Given the description of an element on the screen output the (x, y) to click on. 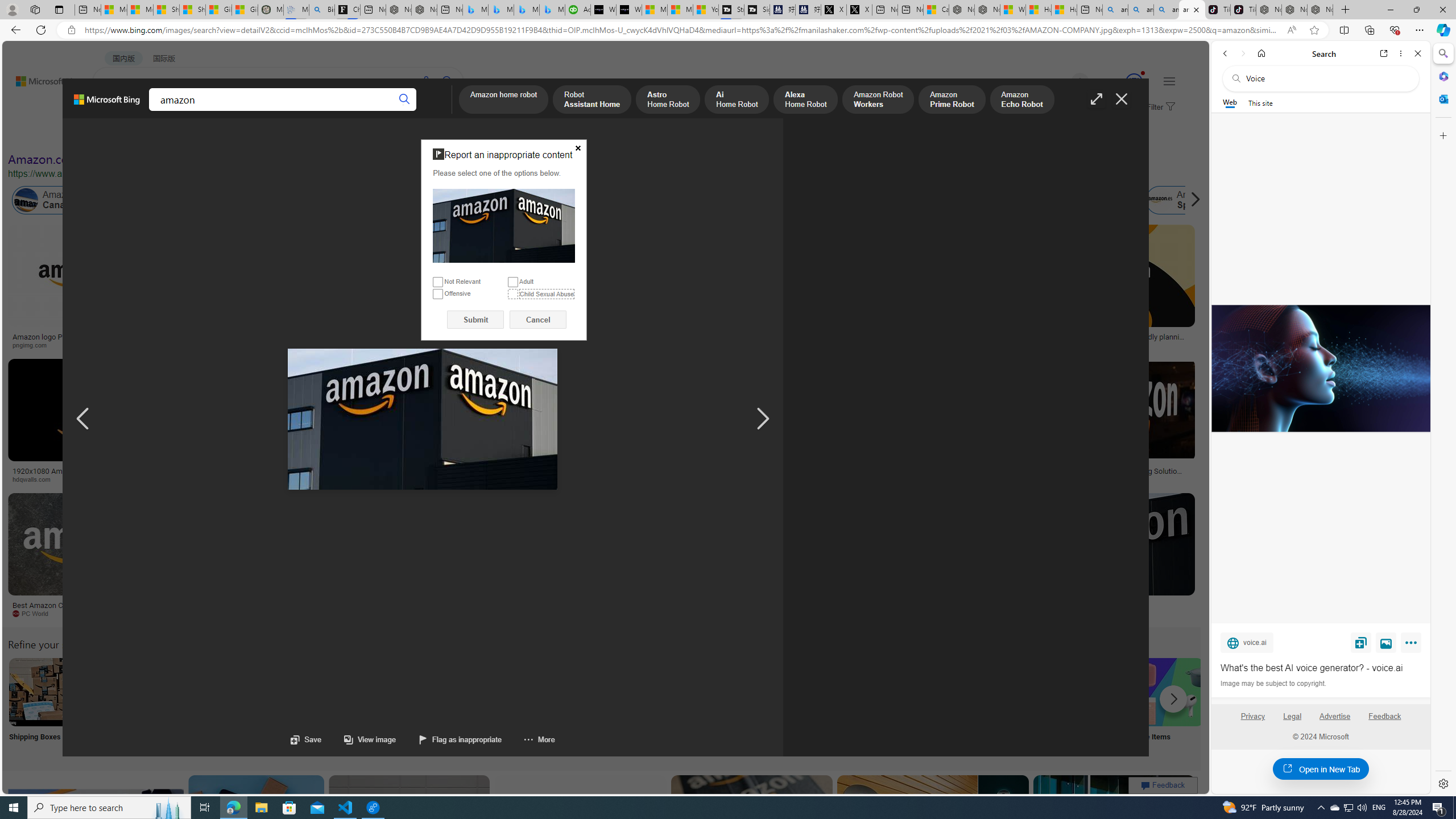
pngimg.com (34, 344)
Color (173, 135)
Listen: What's next for Amazon? (363, 336)
Prime Shopping Online (944, 706)
View image (1385, 642)
Amazon Prime Membership (801, 199)
Settings (1442, 783)
Open in New Tab (1321, 768)
Kindle Paperwhite Case (673, 298)
IMAGES (156, 112)
Kindle Paperwhite Case (673, 298)
